Given the description of an element on the screen output the (x, y) to click on. 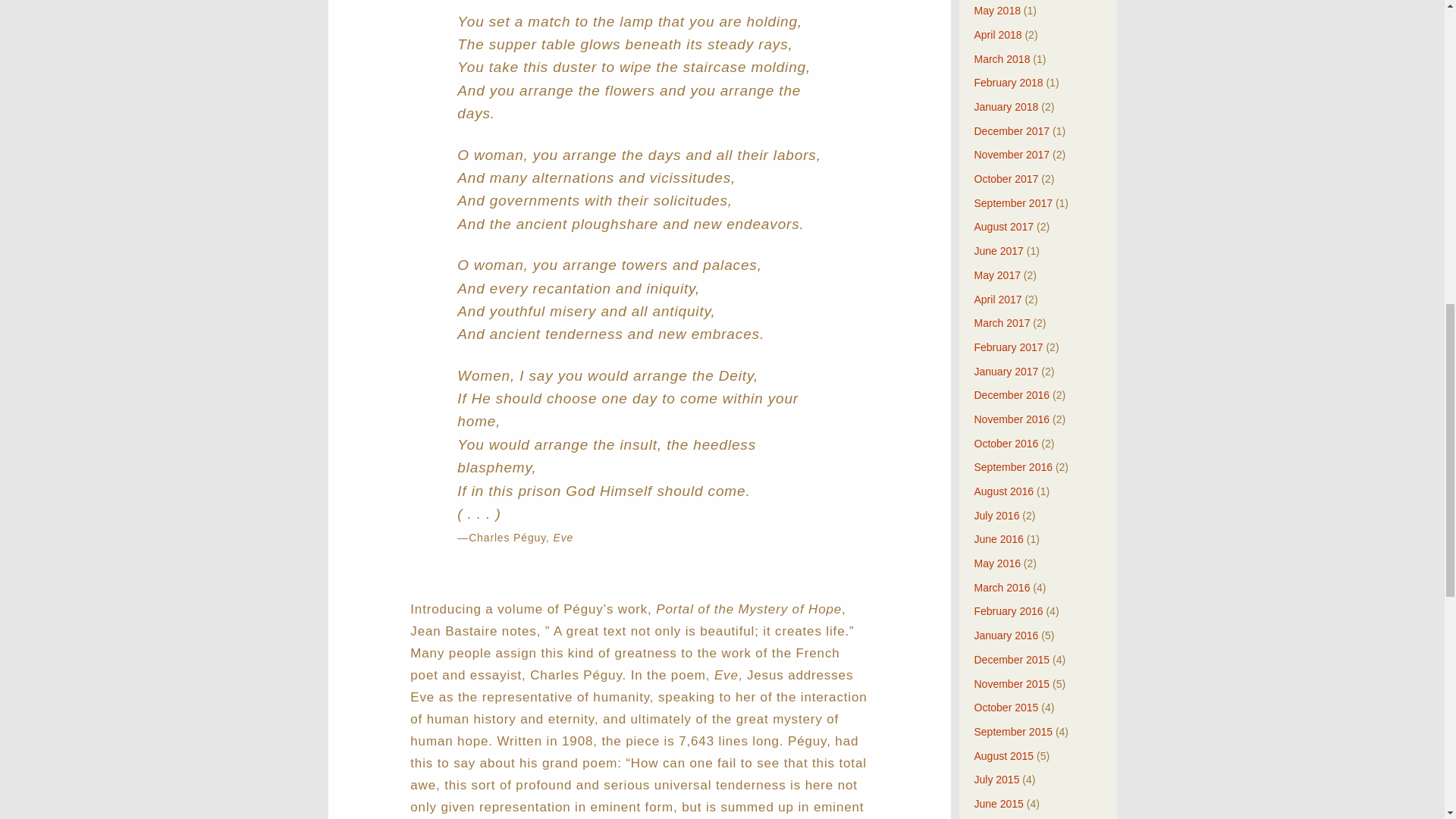
April 2018 (998, 34)
November 2017 (1011, 154)
December 2017 (1011, 131)
May 2018 (997, 10)
March 2018 (1001, 59)
February 2018 (1008, 82)
January 2018 (1006, 106)
